Given the description of an element on the screen output the (x, y) to click on. 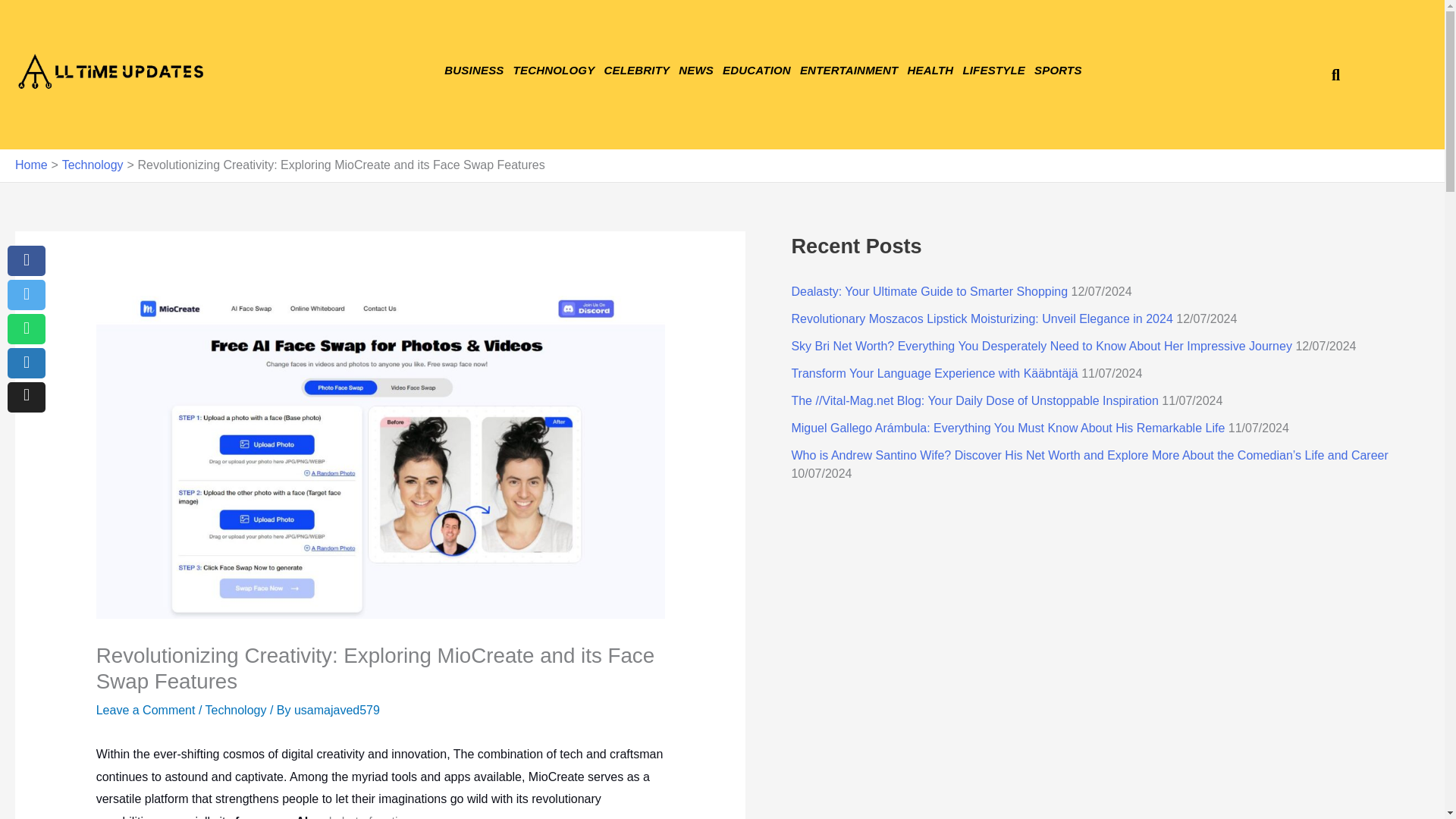
Technology (235, 709)
LIFESTYLE (993, 69)
ENTERTAINMENT (848, 69)
TECHNOLOGY (553, 69)
Search (1328, 74)
SPORTS (1057, 69)
BUSINESS (473, 69)
Leave a Comment (145, 709)
Home (31, 164)
Dealasty: Your Ultimate Guide to Smarter Shopping (928, 291)
CELEBRITY (636, 69)
Technology (92, 164)
face swap AI (270, 816)
EDUCATION (755, 69)
